Given the description of an element on the screen output the (x, y) to click on. 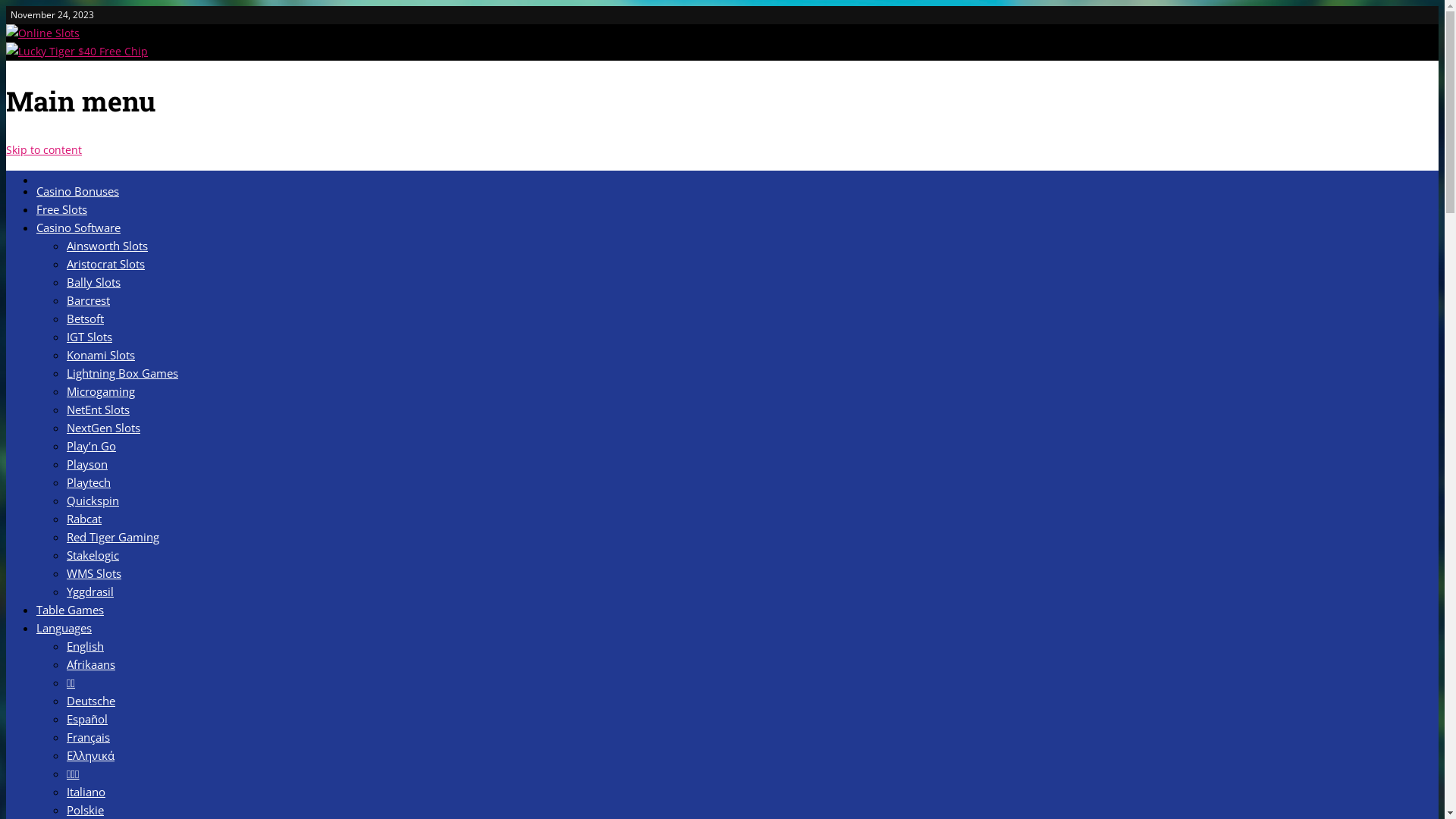
Table Games Element type: text (69, 609)
Aristocrat Slots Element type: text (105, 263)
English Element type: text (84, 645)
Red Tiger Gaming Element type: text (112, 536)
Barcrest Element type: text (87, 299)
Italiano Element type: text (85, 791)
Online Slots Element type: hover (42, 32)
Quickspin Element type: text (92, 500)
Afrikaans Element type: text (90, 663)
Yggdrasil Element type: text (89, 591)
NetEnt Slots Element type: text (97, 409)
IGT Slots Element type: text (89, 336)
Languages Element type: text (63, 627)
Casino Software Element type: text (78, 227)
Ainsworth Slots Element type: text (106, 245)
Playson Element type: text (86, 463)
NextGen Slots Element type: text (103, 427)
Rabcat Element type: text (83, 518)
Stakelogic Element type: text (92, 554)
Skip to content Element type: text (43, 149)
Deutsche Element type: text (90, 700)
Playtech Element type: text (88, 481)
Bally Slots Element type: text (93, 281)
Konami Slots Element type: text (100, 354)
Polskie Element type: text (84, 809)
Lightning Box Games Element type: text (122, 372)
WMS Slots Element type: text (93, 572)
Betsoft Element type: text (84, 318)
Free Slots Element type: text (61, 208)
Casino Bonuses Element type: text (77, 190)
Microgaming Element type: text (100, 390)
